Given the description of an element on the screen output the (x, y) to click on. 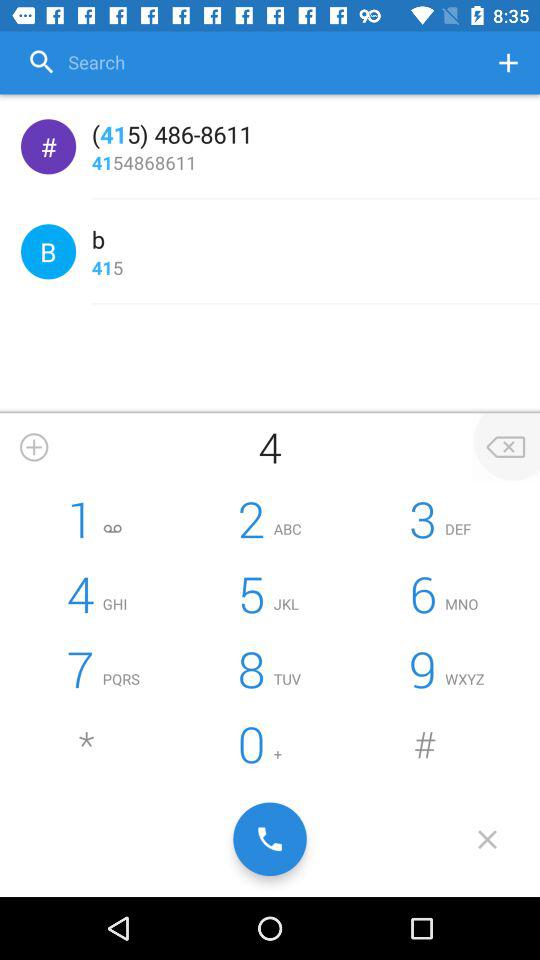
add a number (34, 447)
